Given the description of an element on the screen output the (x, y) to click on. 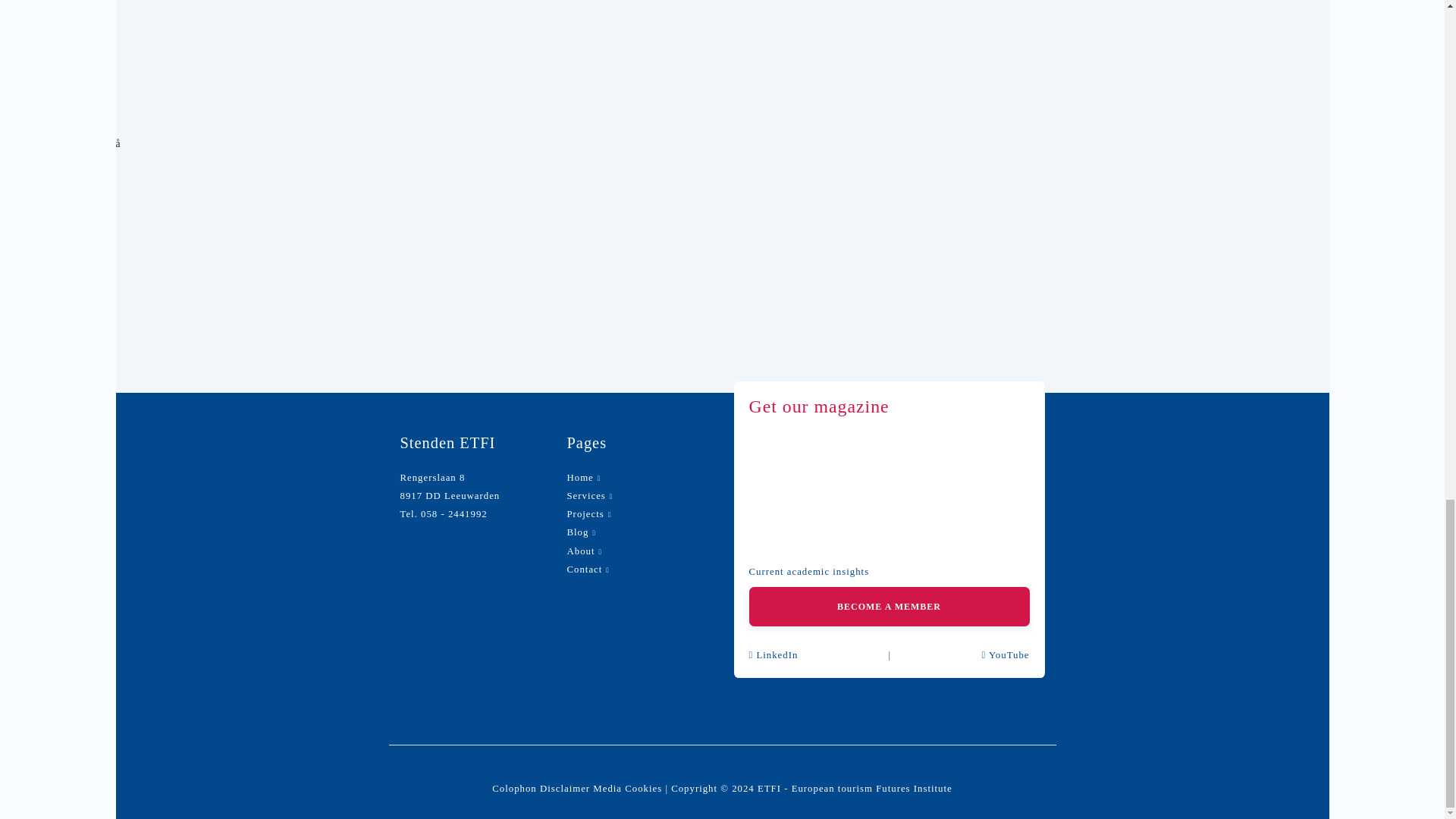
Home (580, 477)
